Given the description of an element on the screen output the (x, y) to click on. 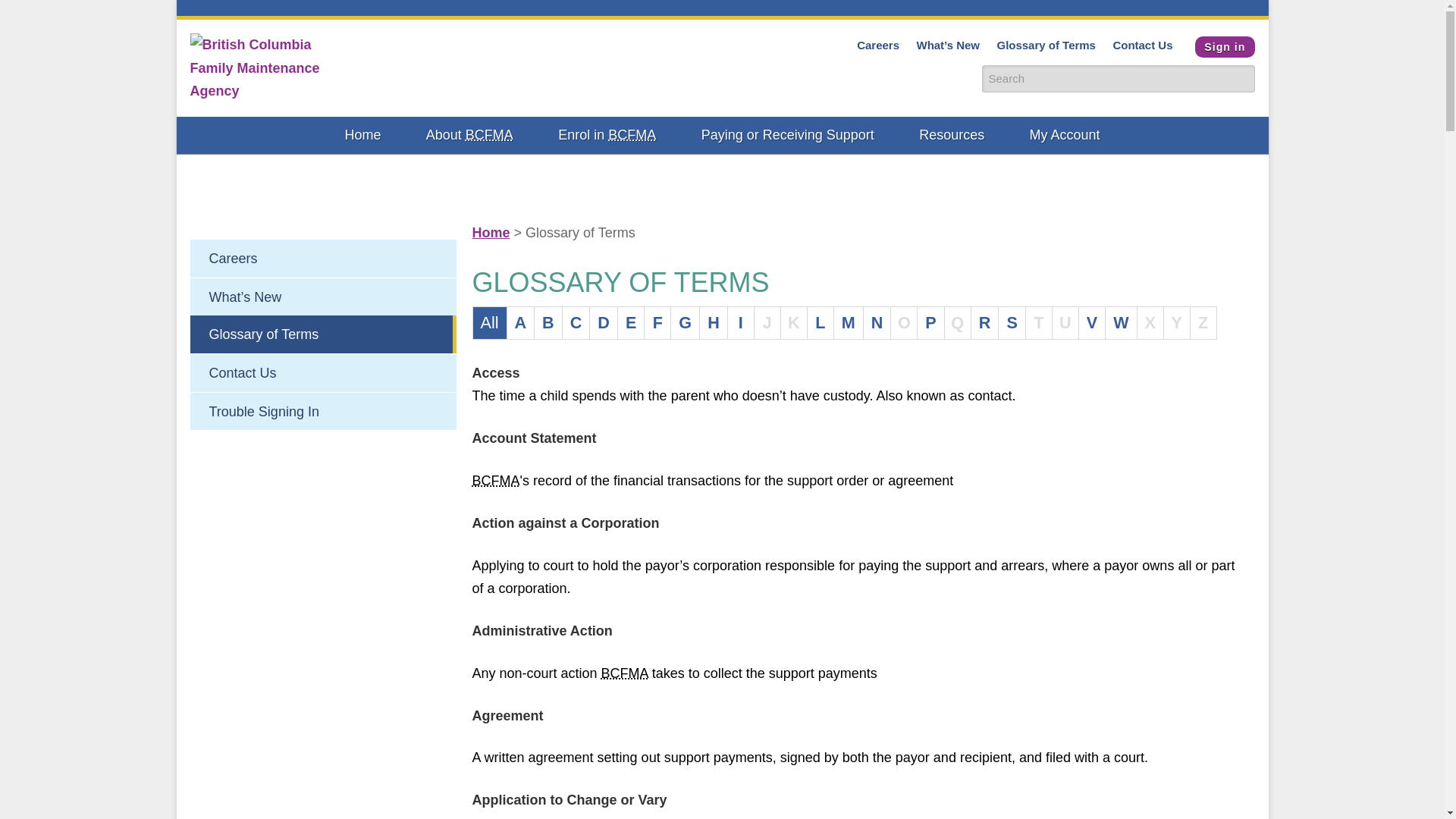
Careers (878, 45)
Glossary of Terms (1044, 45)
Contact Us (1142, 45)
Search (1240, 76)
Enrol in BCFMA (606, 135)
Home (362, 135)
About BCFMA (469, 135)
About BCFMA (469, 135)
Sign In (1224, 46)
British Columbia Family Maintenance Agency (489, 134)
